Given the description of an element on the screen output the (x, y) to click on. 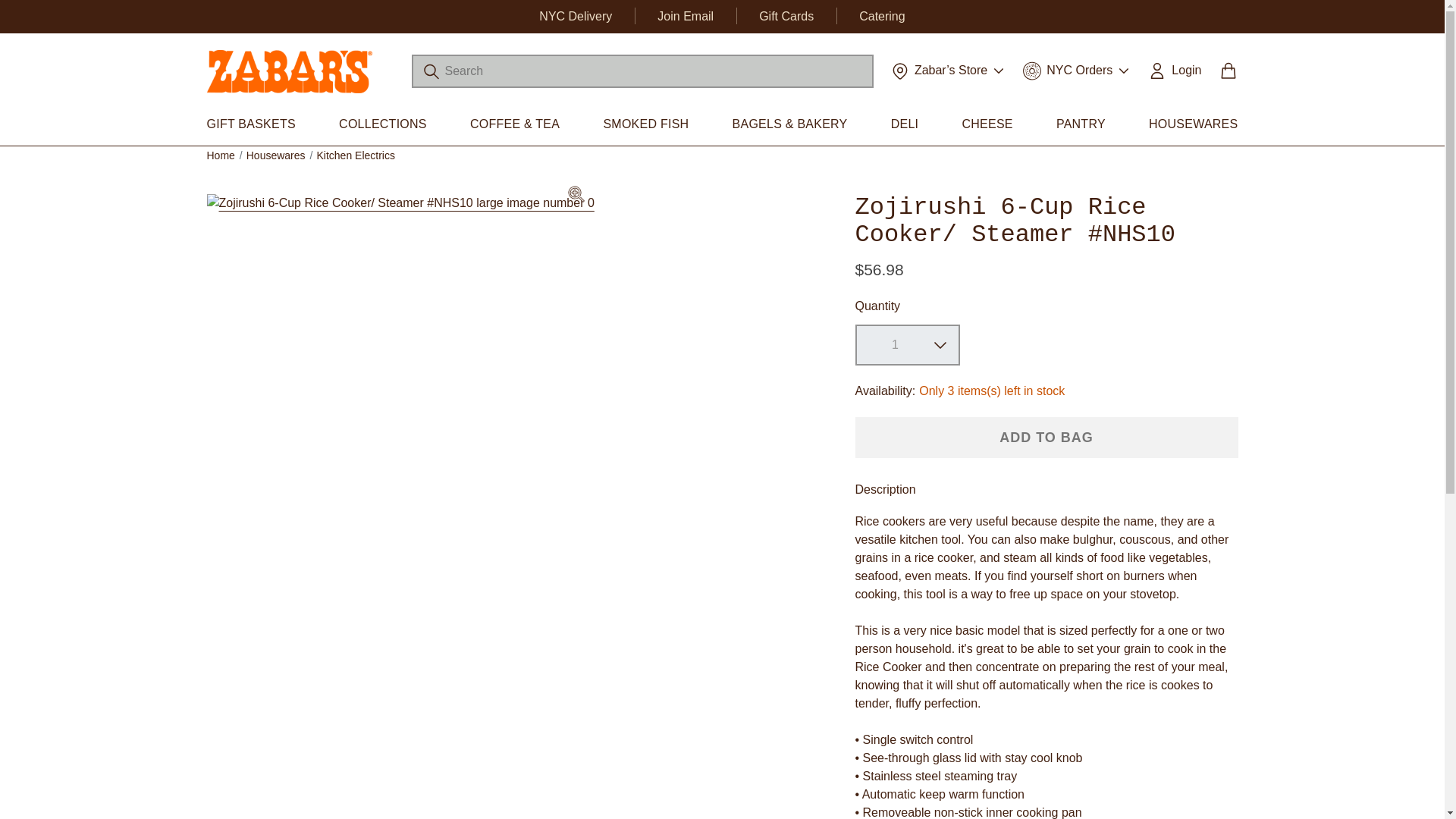
Catering (881, 15)
Login (1174, 70)
Join Email (685, 15)
Zabars Home (288, 71)
GIFT BASKETS (250, 123)
Cart 0 Items (1227, 75)
NYC Orders (1076, 70)
COLLECTIONS (382, 123)
Gift Cards (785, 15)
NYC Delivery (574, 15)
Zoom Icon (576, 194)
